Given the description of an element on the screen output the (x, y) to click on. 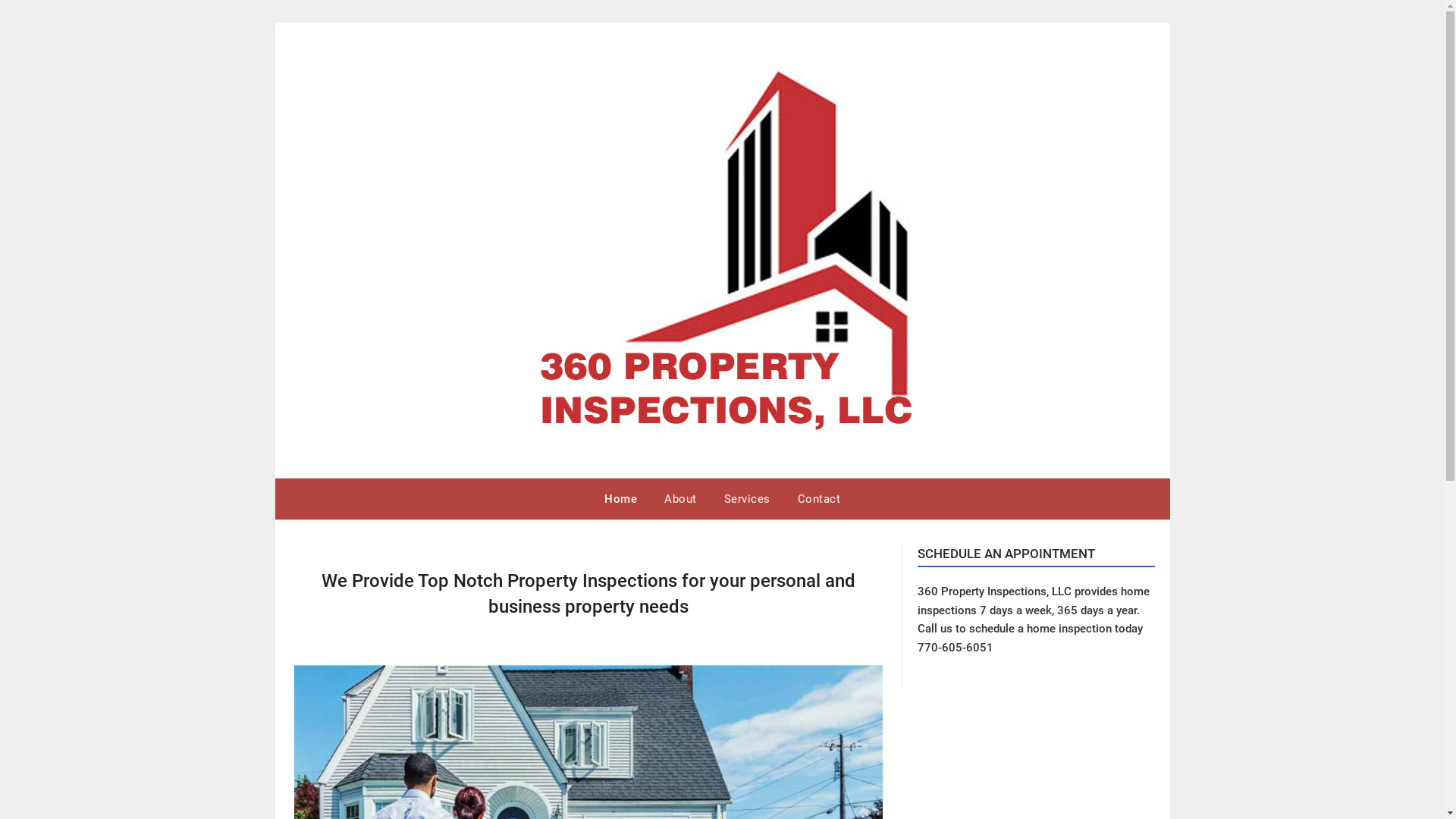
Contact Element type: text (819, 498)
Home Element type: text (620, 498)
About Element type: text (680, 498)
Services Element type: text (746, 498)
